Given the description of an element on the screen output the (x, y) to click on. 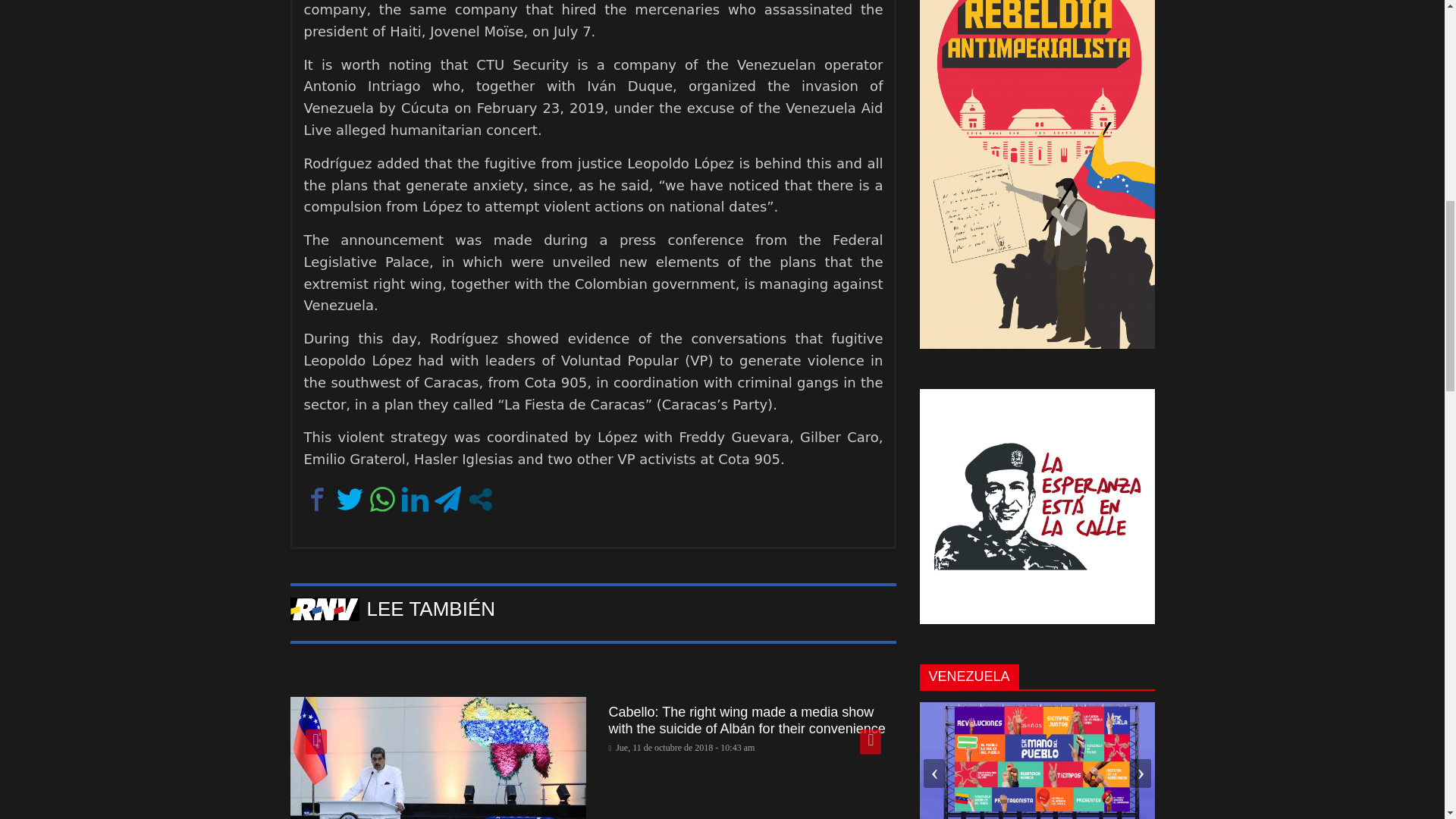
Share on Linkedin (414, 499)
Share on Facebook (316, 499)
Tweet (349, 499)
Open modal social networks (480, 499)
Share on Telegram (446, 499)
Share on WhatsApp (381, 499)
RNV (323, 608)
